Given the description of an element on the screen output the (x, y) to click on. 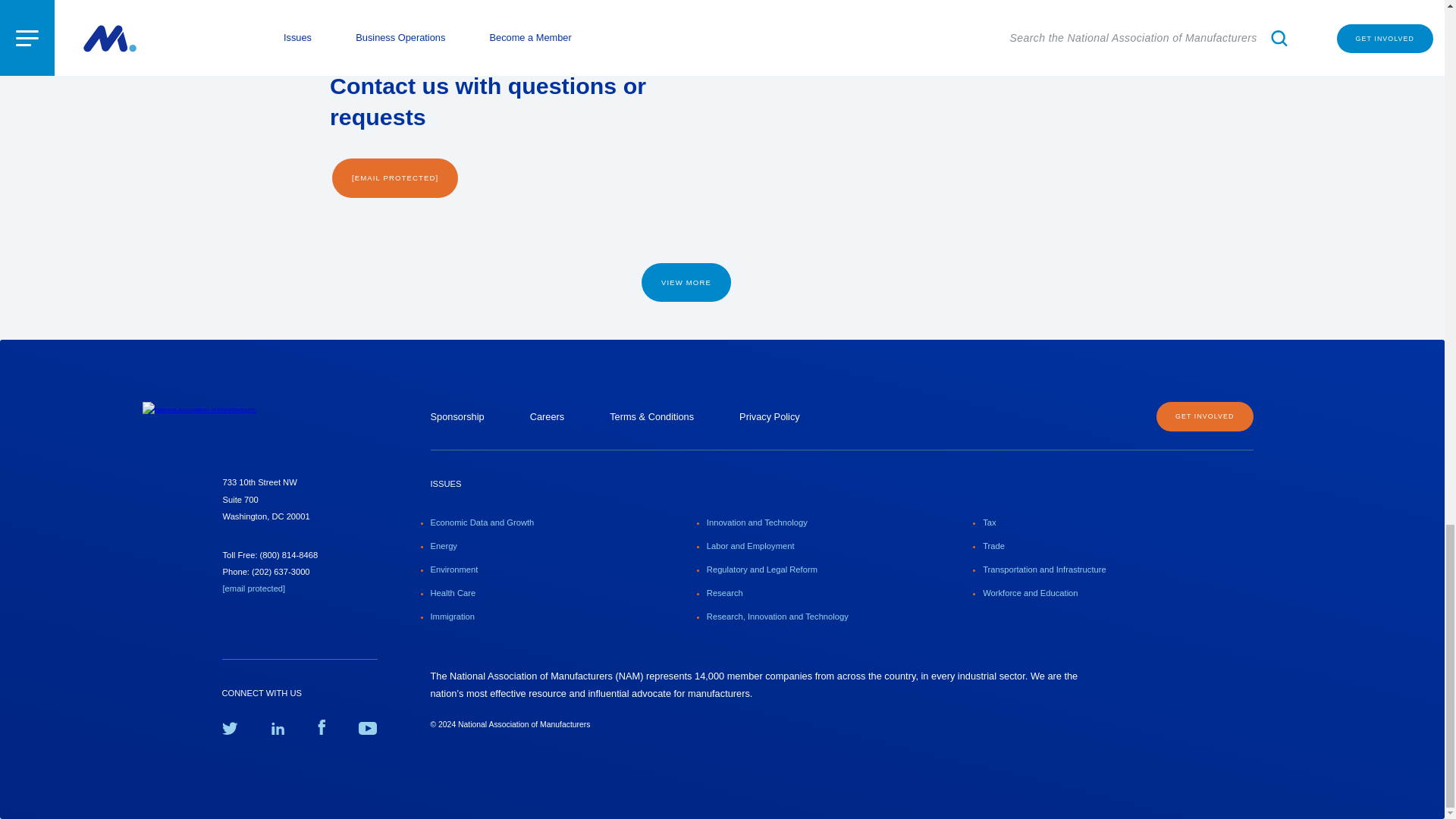
Sponsorship (457, 416)
Careers (546, 416)
VIEW MORE (686, 282)
